Given the description of an element on the screen output the (x, y) to click on. 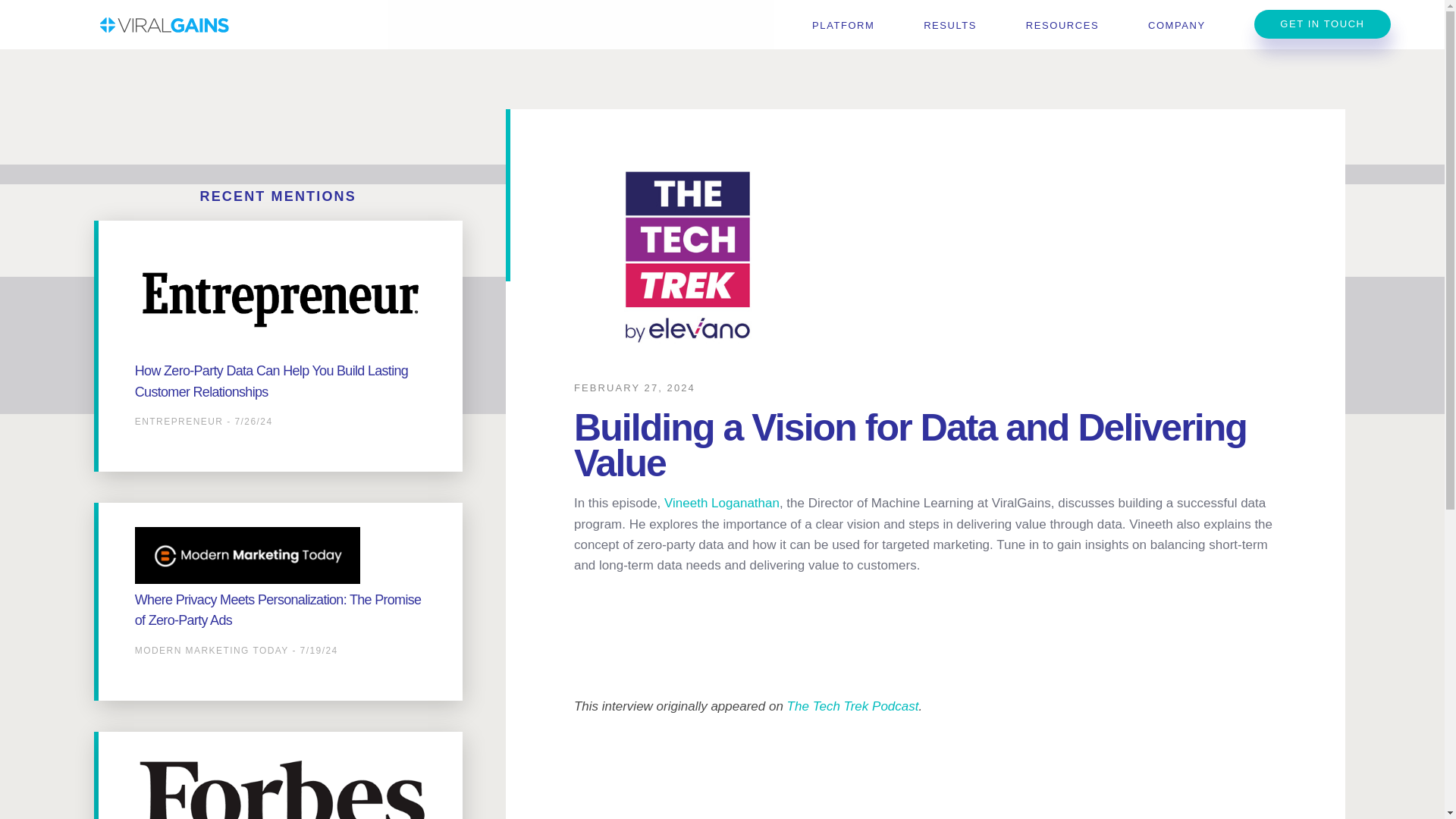
GET IN TOUCH (1321, 23)
RESULTS (949, 25)
COMPANY (1176, 25)
FEBRUARY 27, 2024 (634, 387)
The Tech Trek Podcast (852, 706)
PLATFORM (843, 25)
Vineeth Loganathan (720, 503)
RESOURCES (1062, 25)
